Given the description of an element on the screen output the (x, y) to click on. 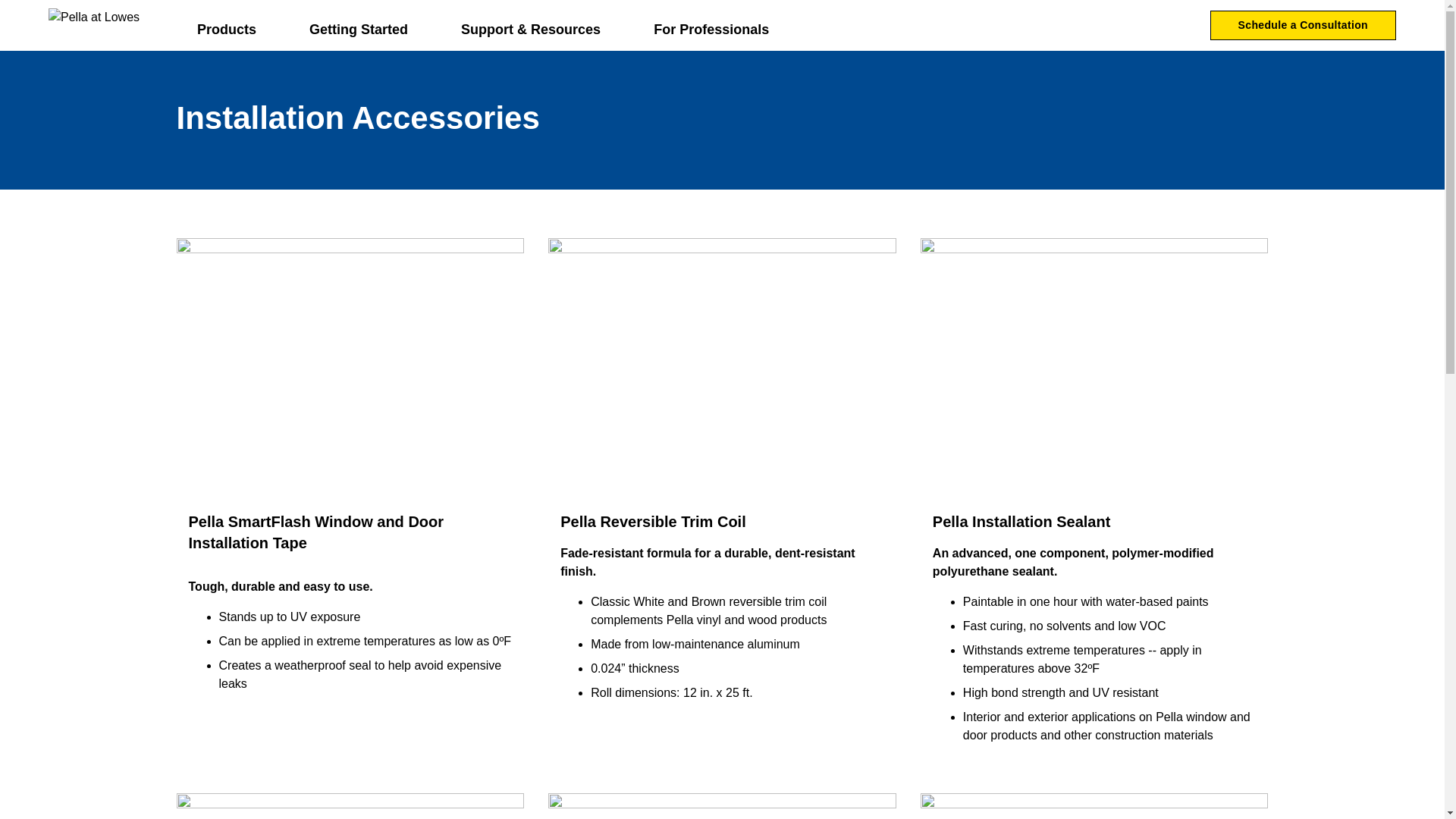
Getting Started (369, 25)
Schedule a Consultation (1302, 25)
Home (93, 25)
Products (238, 25)
For Professionals (711, 25)
